Given the description of an element on the screen output the (x, y) to click on. 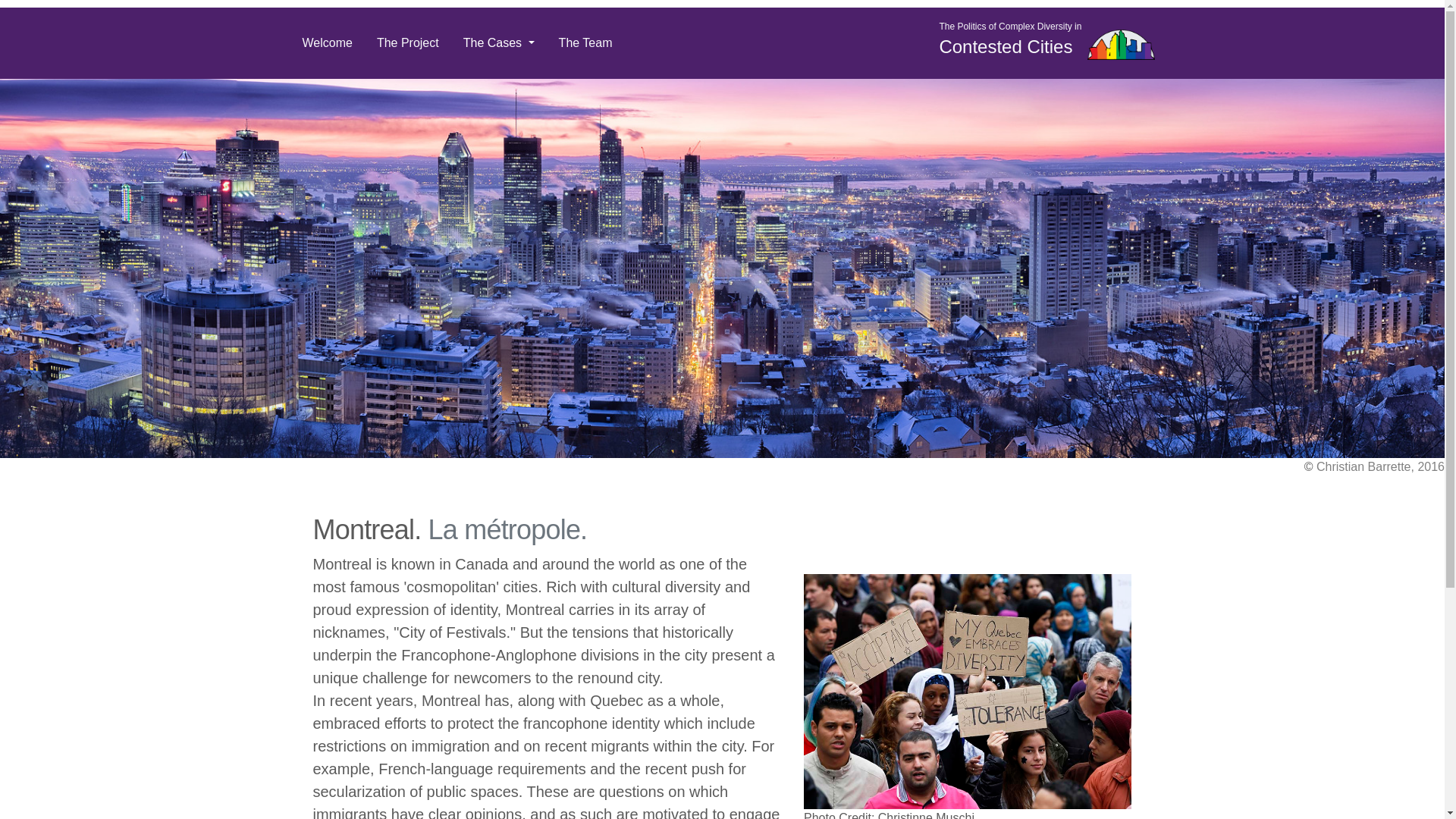
The Team (585, 42)
The Cases (499, 42)
The Project (408, 42)
Welcome (326, 42)
